Given the description of an element on the screen output the (x, y) to click on. 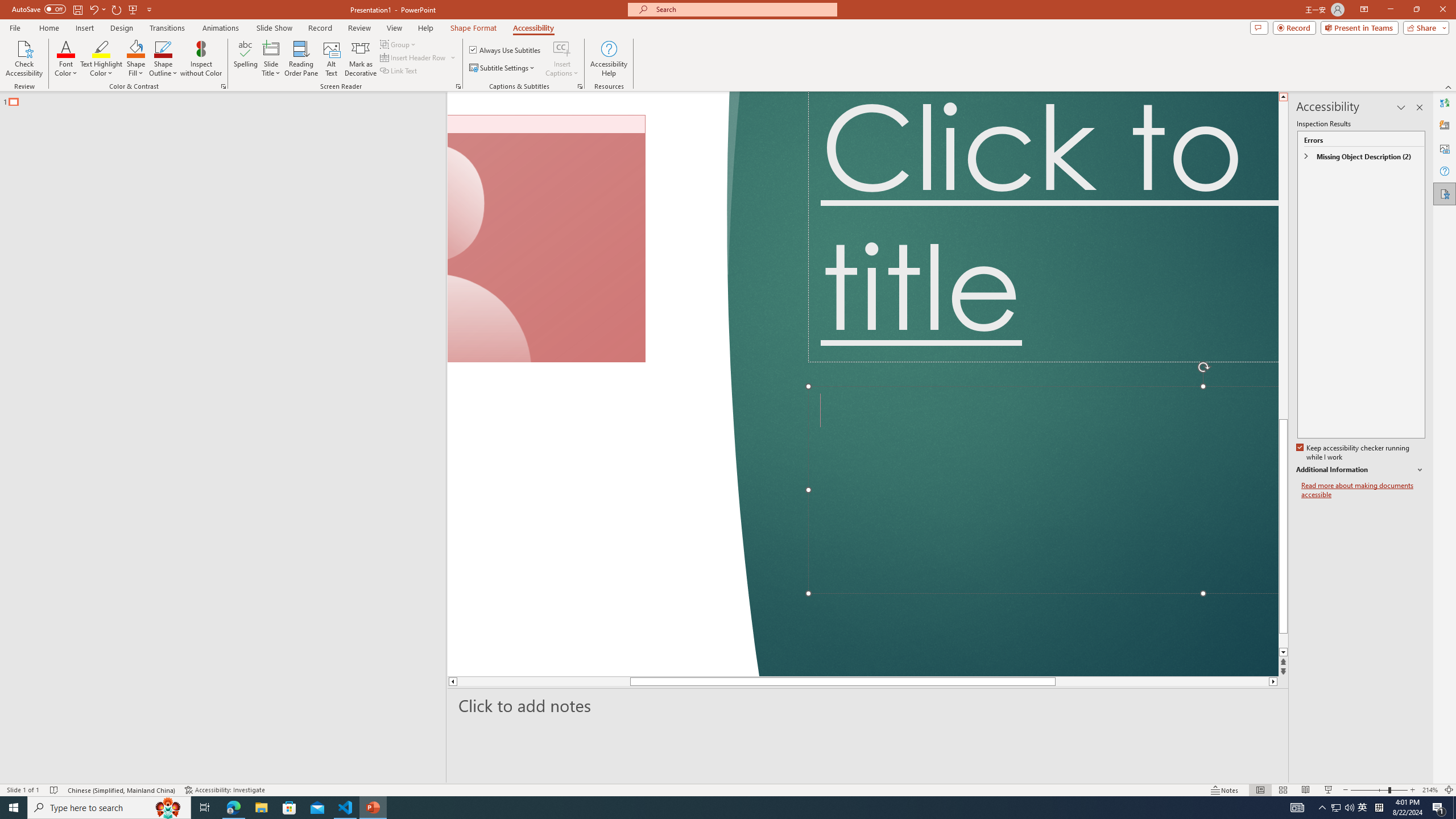
Additional Information (1360, 469)
Insert Header Row (418, 56)
Slide Title (271, 48)
Color & Contrast (223, 85)
